Given the description of an element on the screen output the (x, y) to click on. 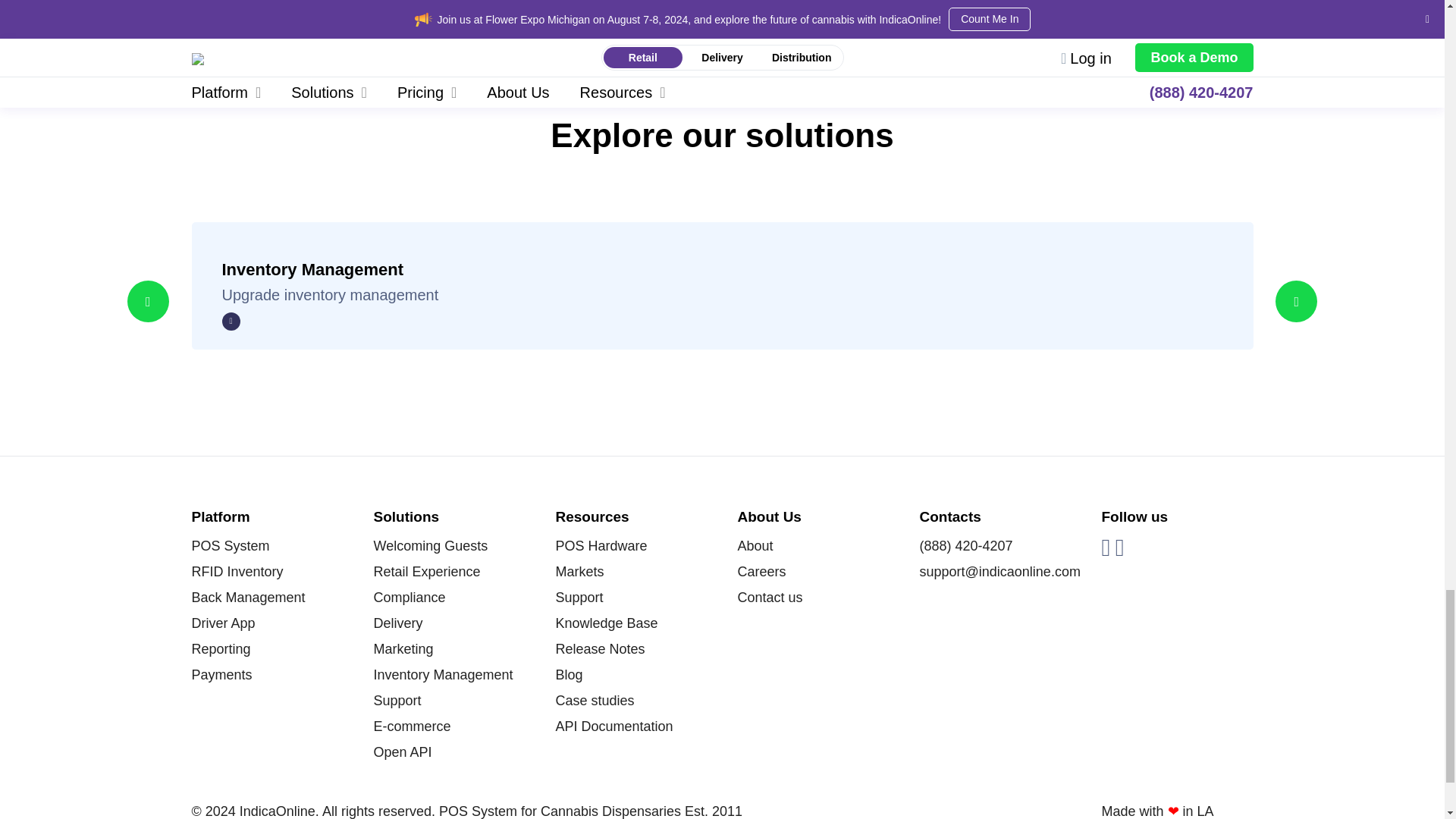
indicaOnline YouTube (1104, 547)
indicaOnline Instagram (1119, 547)
